Given the description of an element on the screen output the (x, y) to click on. 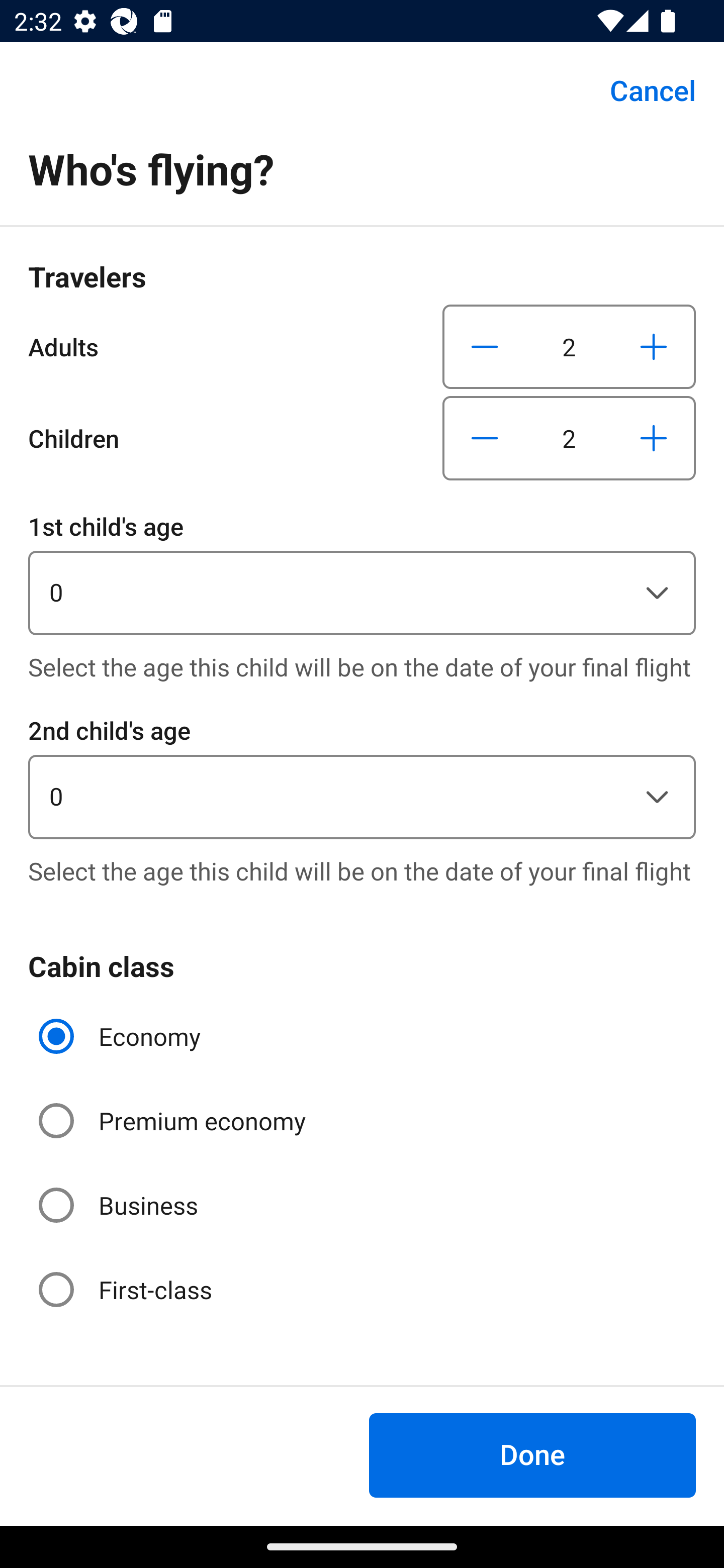
Cancel (641, 90)
Decrease (484, 346)
Increase (653, 346)
Decrease (484, 437)
Increase (653, 437)
1st child's age
 1st child's age 0 (361, 571)
2nd child's age
 2nd child's age 0 (361, 774)
Economy (121, 1036)
Premium economy (174, 1120)
Business (120, 1205)
First-class (126, 1289)
Done (532, 1454)
